Given the description of an element on the screen output the (x, y) to click on. 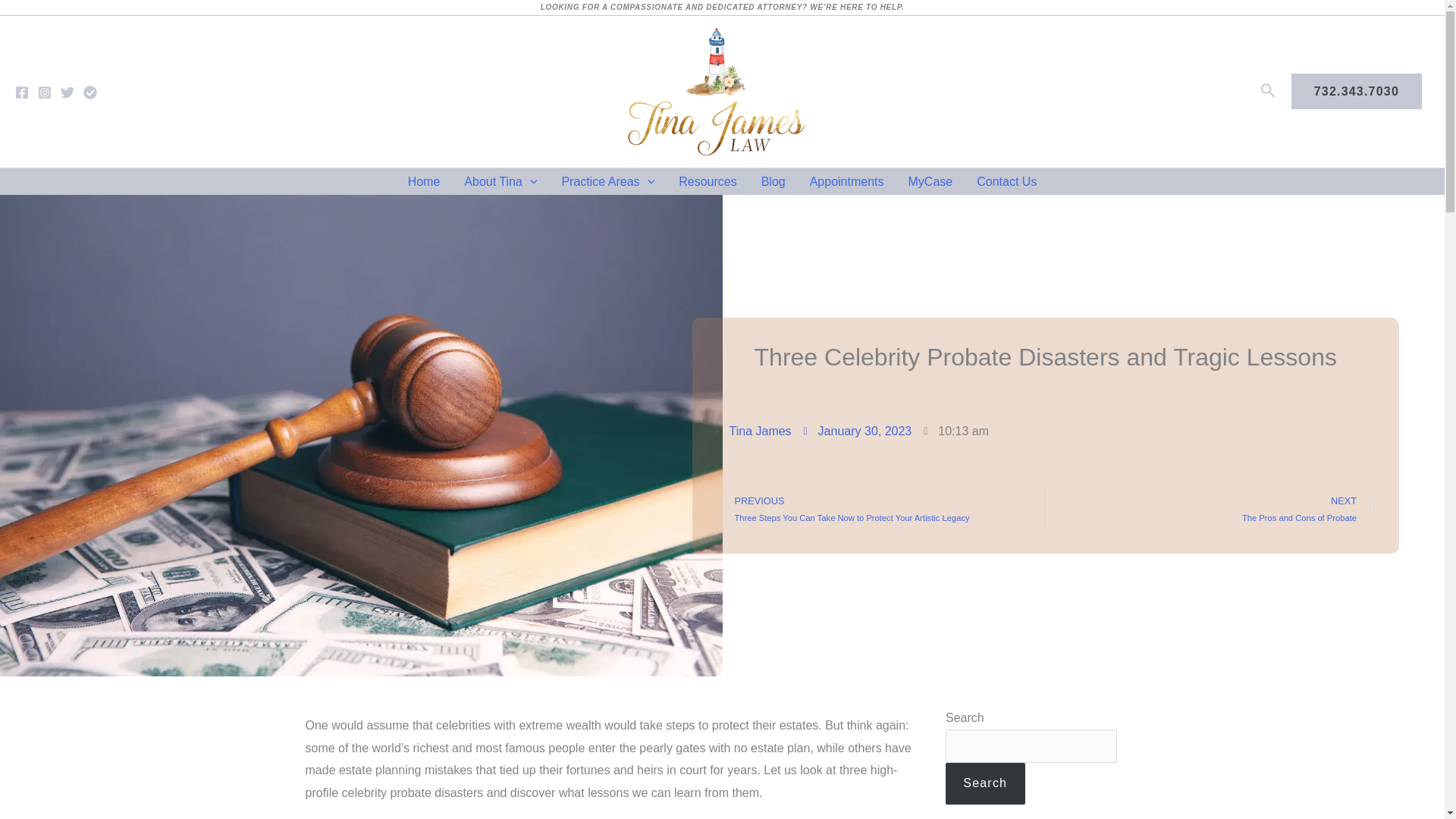
732.343.7030 (1356, 90)
Blog (773, 181)
Home (424, 181)
Resources (707, 181)
About Tina (499, 181)
Practice Areas (607, 181)
Contact Us (1005, 181)
MyCase (930, 181)
Appointments (846, 181)
